Given the description of an element on the screen output the (x, y) to click on. 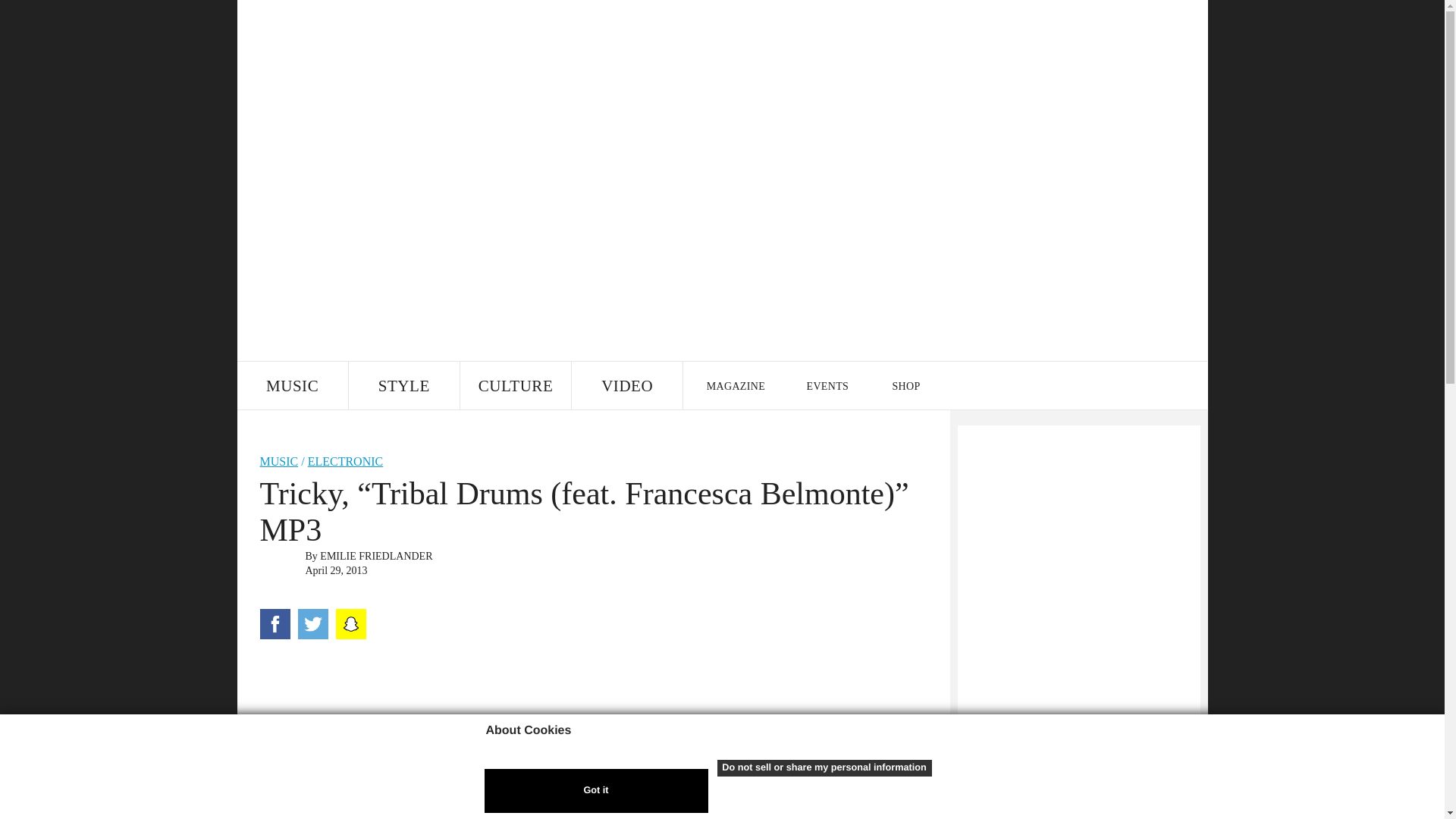
Got it (595, 791)
Do not sell or share my personal information (824, 768)
